Given the description of an element on the screen output the (x, y) to click on. 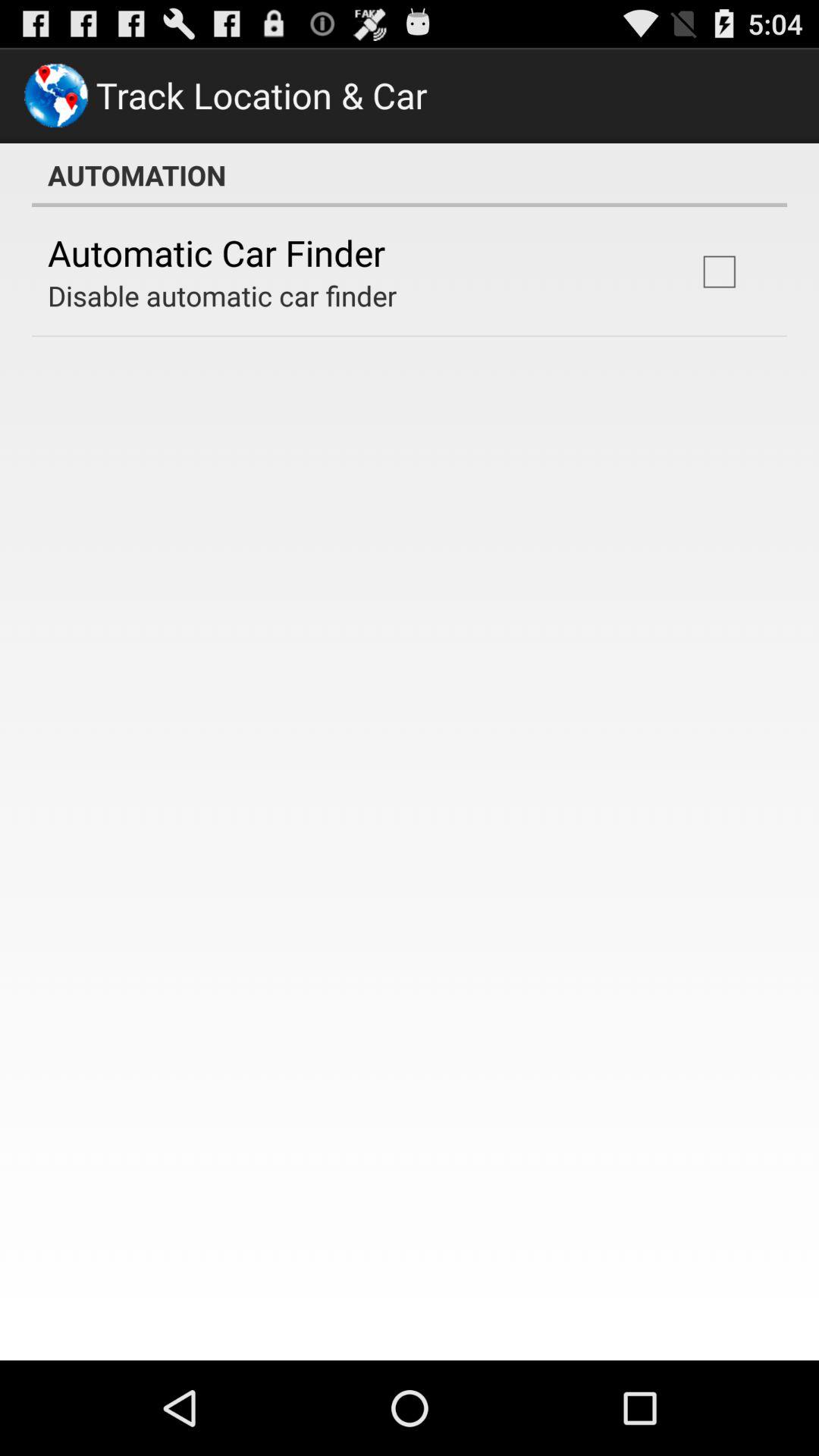
turn on app below automation (719, 271)
